Given the description of an element on the screen output the (x, y) to click on. 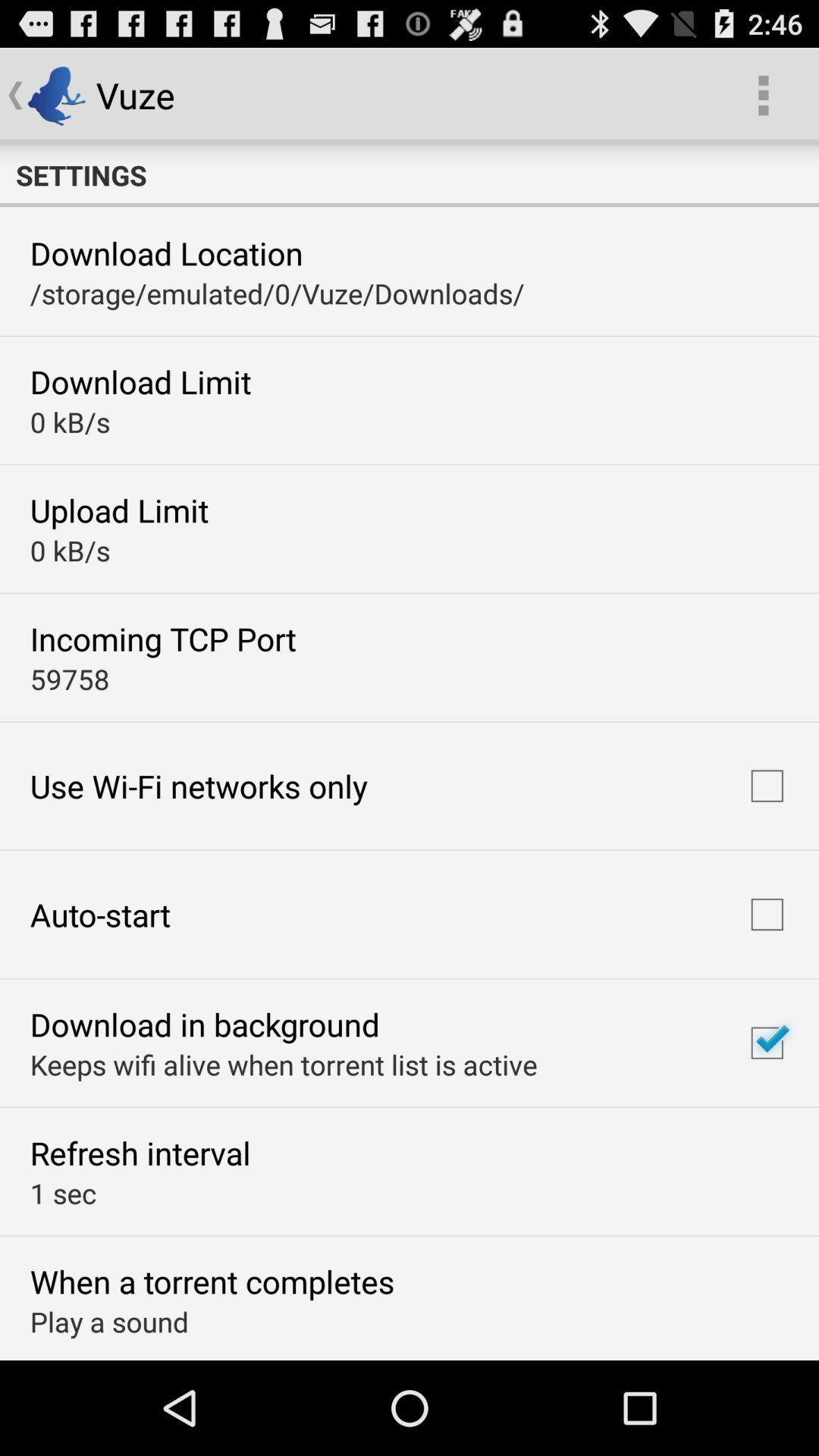
launch icon above the refresh interval icon (283, 1064)
